Given the description of an element on the screen output the (x, y) to click on. 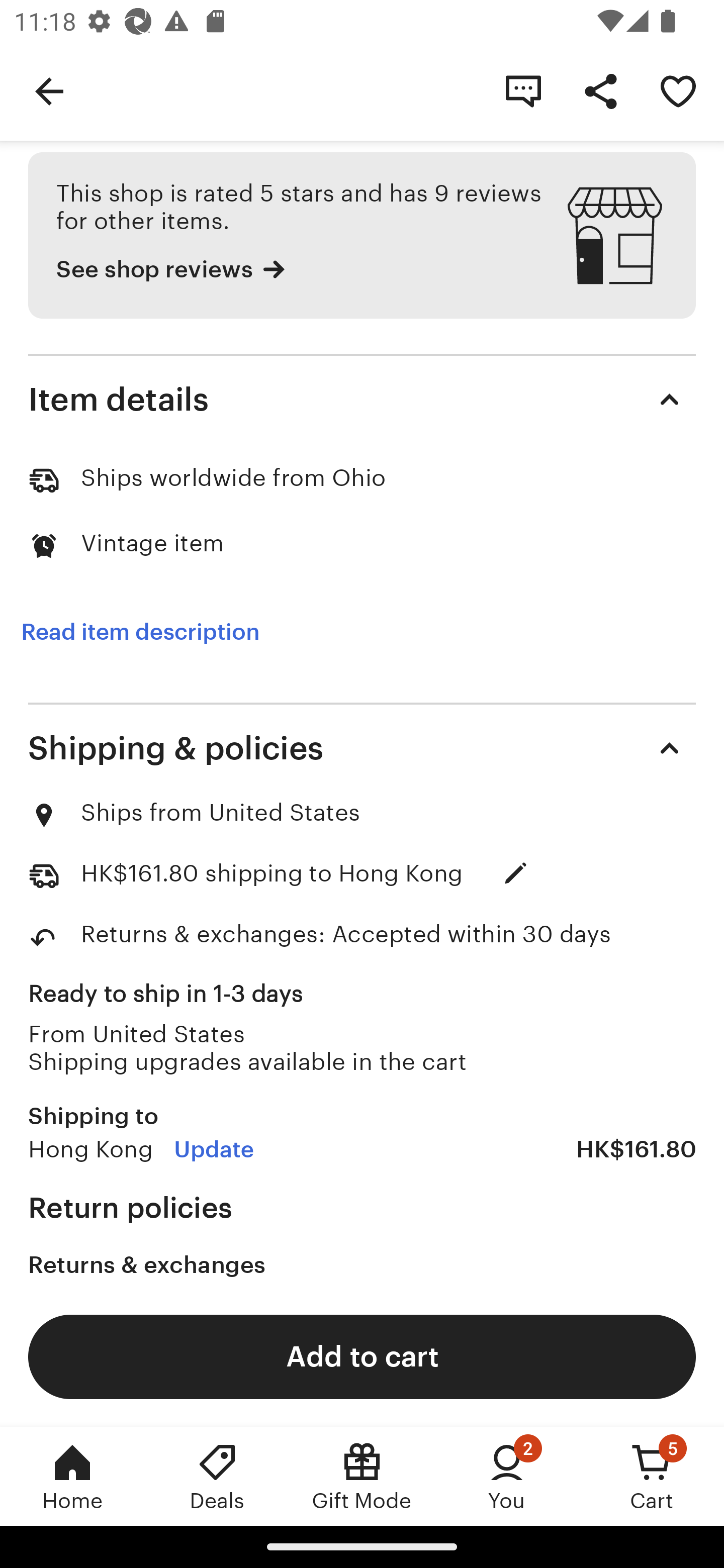
Navigate up (49, 90)
Contact shop (523, 90)
Share (600, 90)
Item details (362, 399)
Read item description (140, 631)
Shipping & policies (362, 747)
Update (515, 873)
Update (213, 1149)
Add to cart (361, 1355)
Deals (216, 1475)
Gift Mode (361, 1475)
You, 2 new notifications You (506, 1475)
Cart, 5 new notifications Cart (651, 1475)
